Given the description of an element on the screen output the (x, y) to click on. 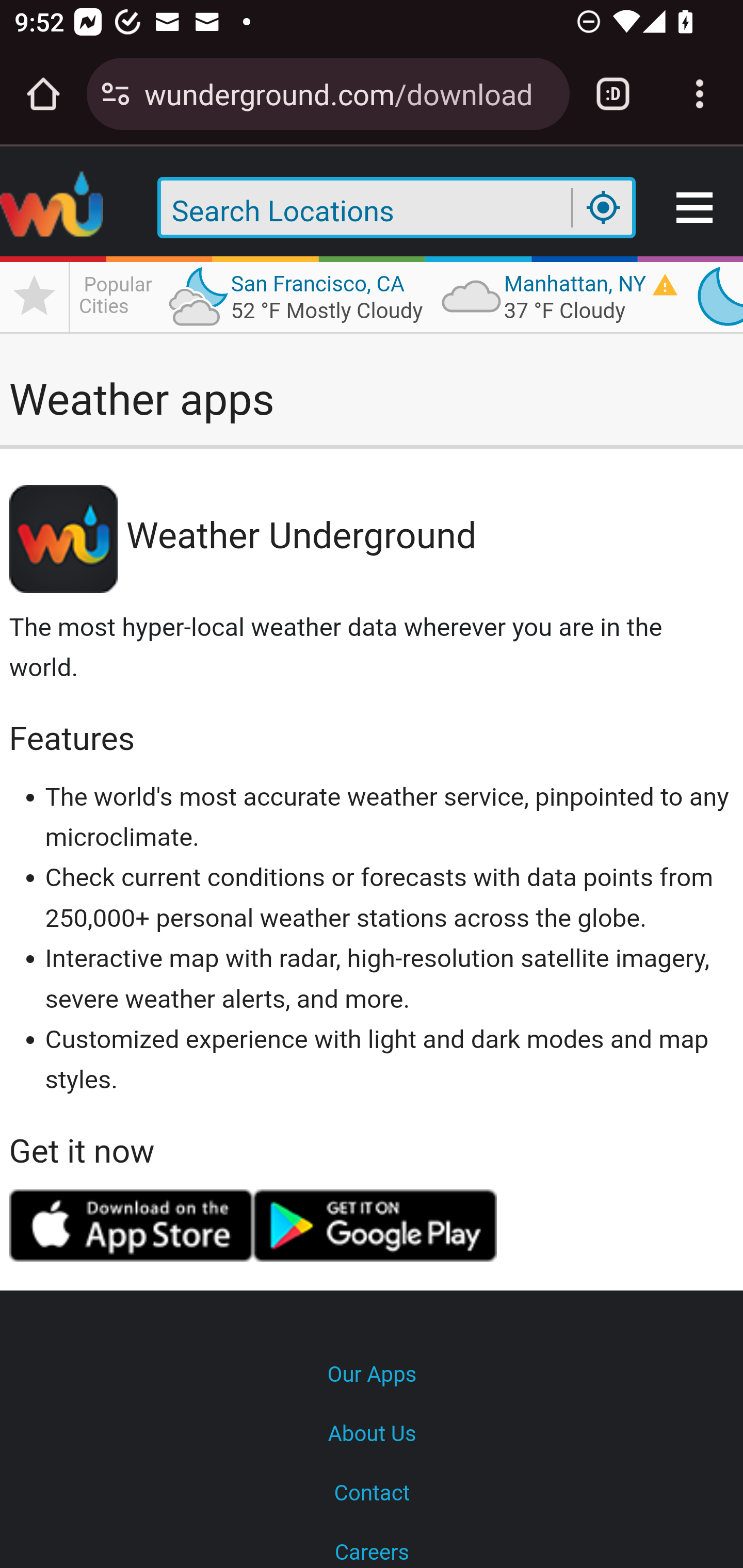
Open the home page (43, 93)
Connection is secure (115, 93)
Switch or close tabs (612, 93)
Customize and control Google Chrome (699, 93)
wunderground.com/download (349, 92)
Weather Underground Logo _ (52, 208)
Menu (695, 208)
Manage Favorites star (34, 296)
Download from the App Store (129, 1225)
Get it on Google Play (375, 1225)
Our Apps (371, 1374)
About Us (371, 1434)
Contact (371, 1494)
Careers (371, 1546)
